Given the description of an element on the screen output the (x, y) to click on. 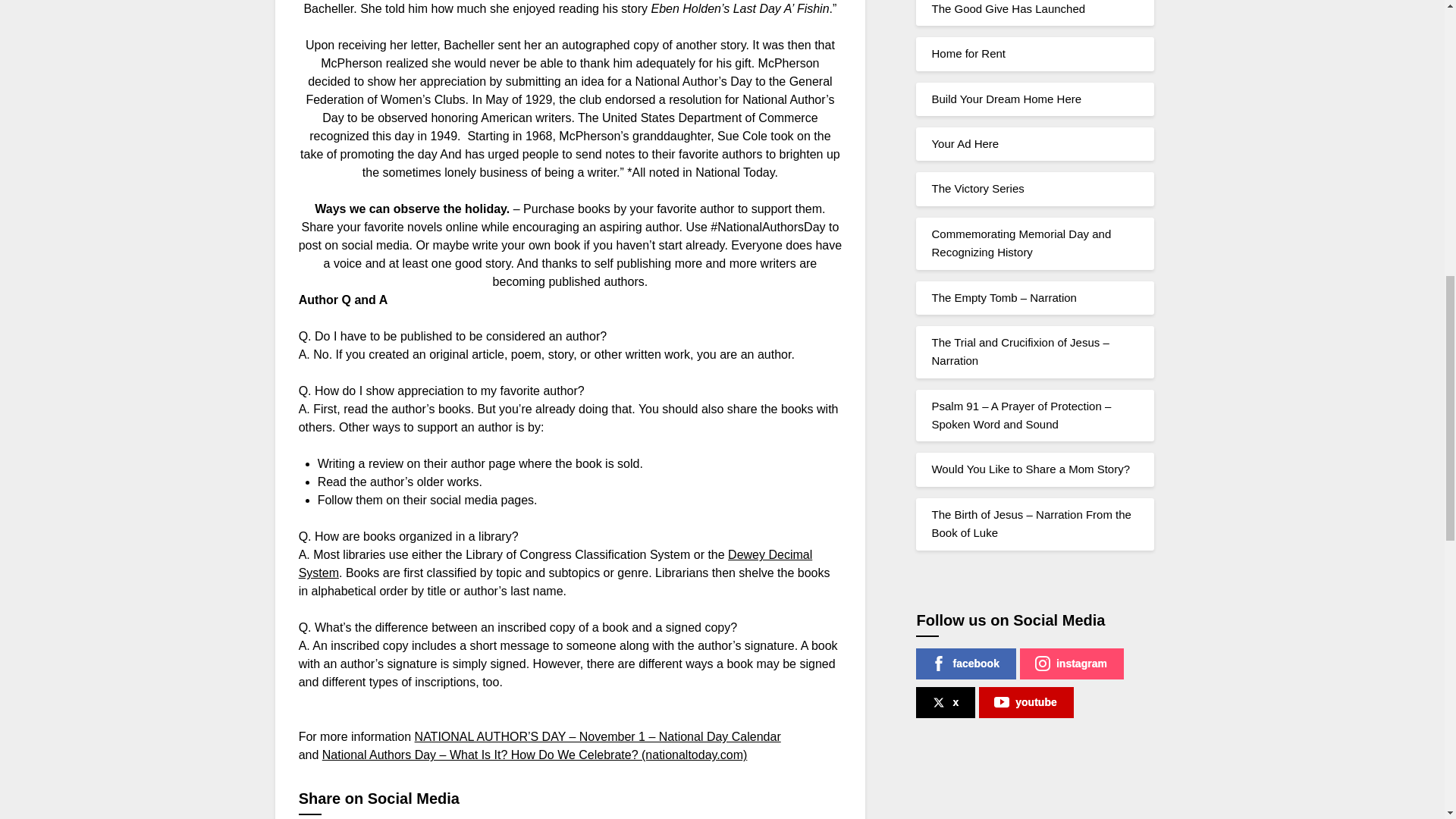
Home for Rent (968, 52)
Your Ad Here (964, 143)
Dewey Decimal System (555, 563)
Build Your Dream Home Here (1006, 98)
Commemorating Memorial Day and Recognizing History (1020, 242)
The Good Give Has Launched (1007, 8)
The Victory Series (977, 187)
